Given the description of an element on the screen output the (x, y) to click on. 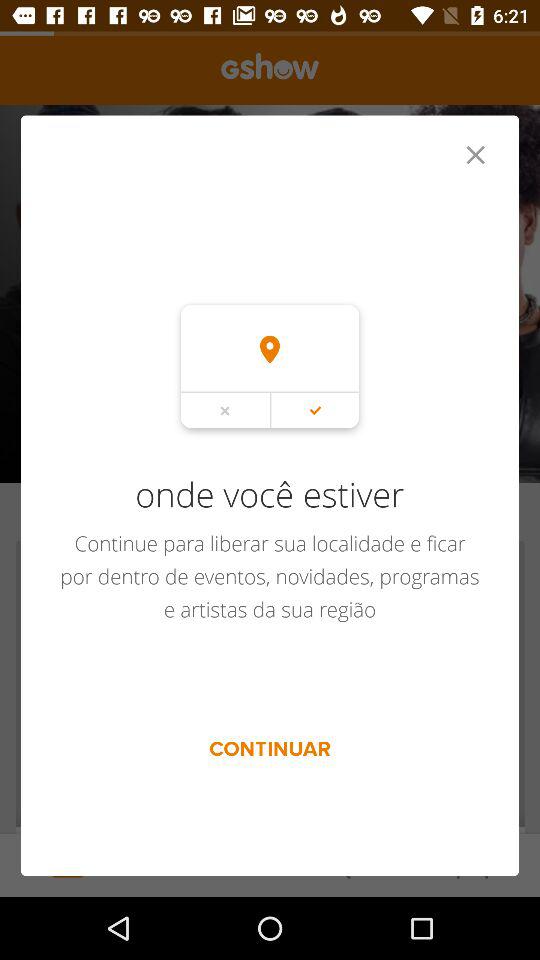
turn on the item below continue para liberar (269, 748)
